Given the description of an element on the screen output the (x, y) to click on. 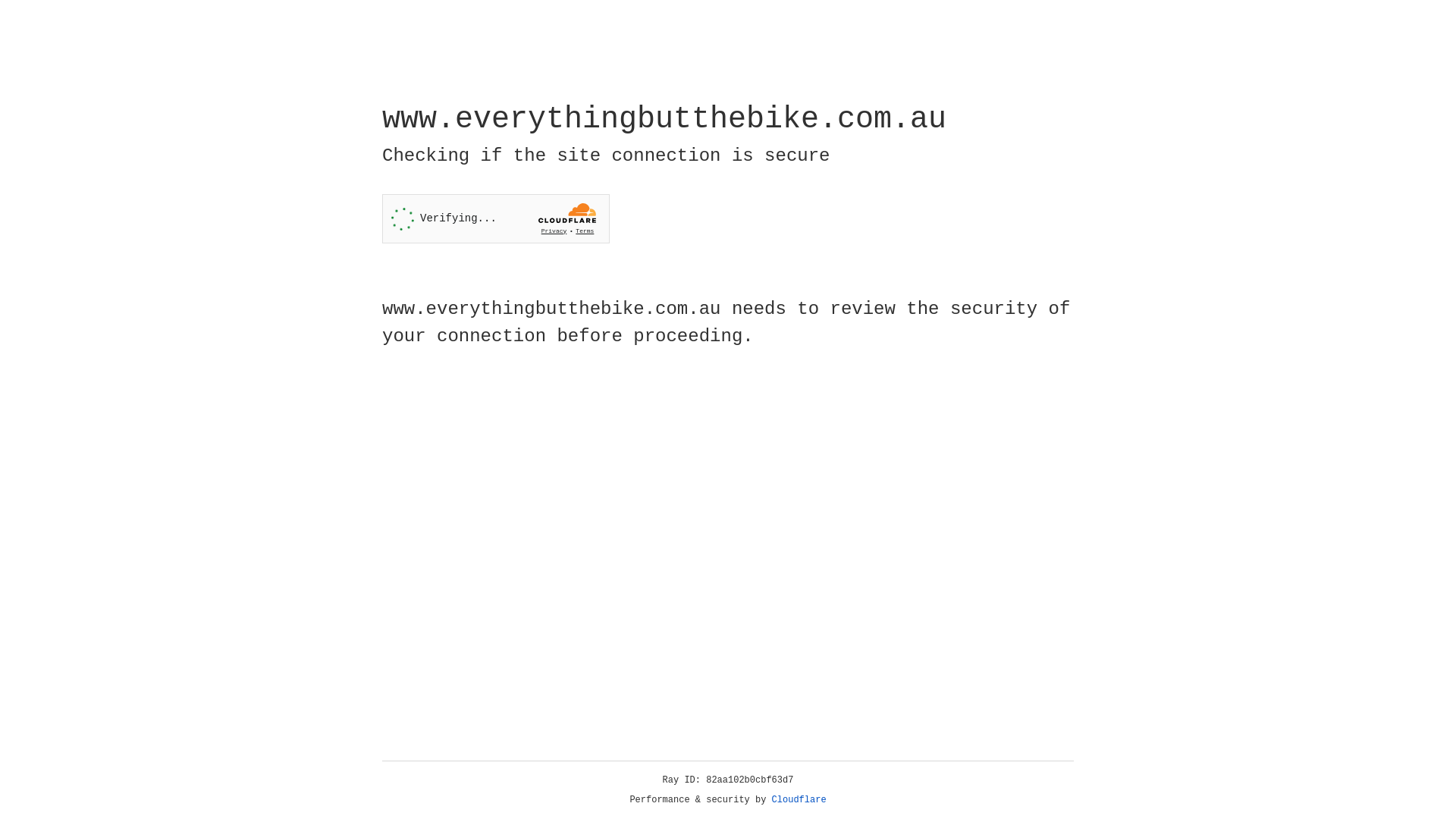
Widget containing a Cloudflare security challenge Element type: hover (495, 218)
Cloudflare Element type: text (798, 799)
